Given the description of an element on the screen output the (x, y) to click on. 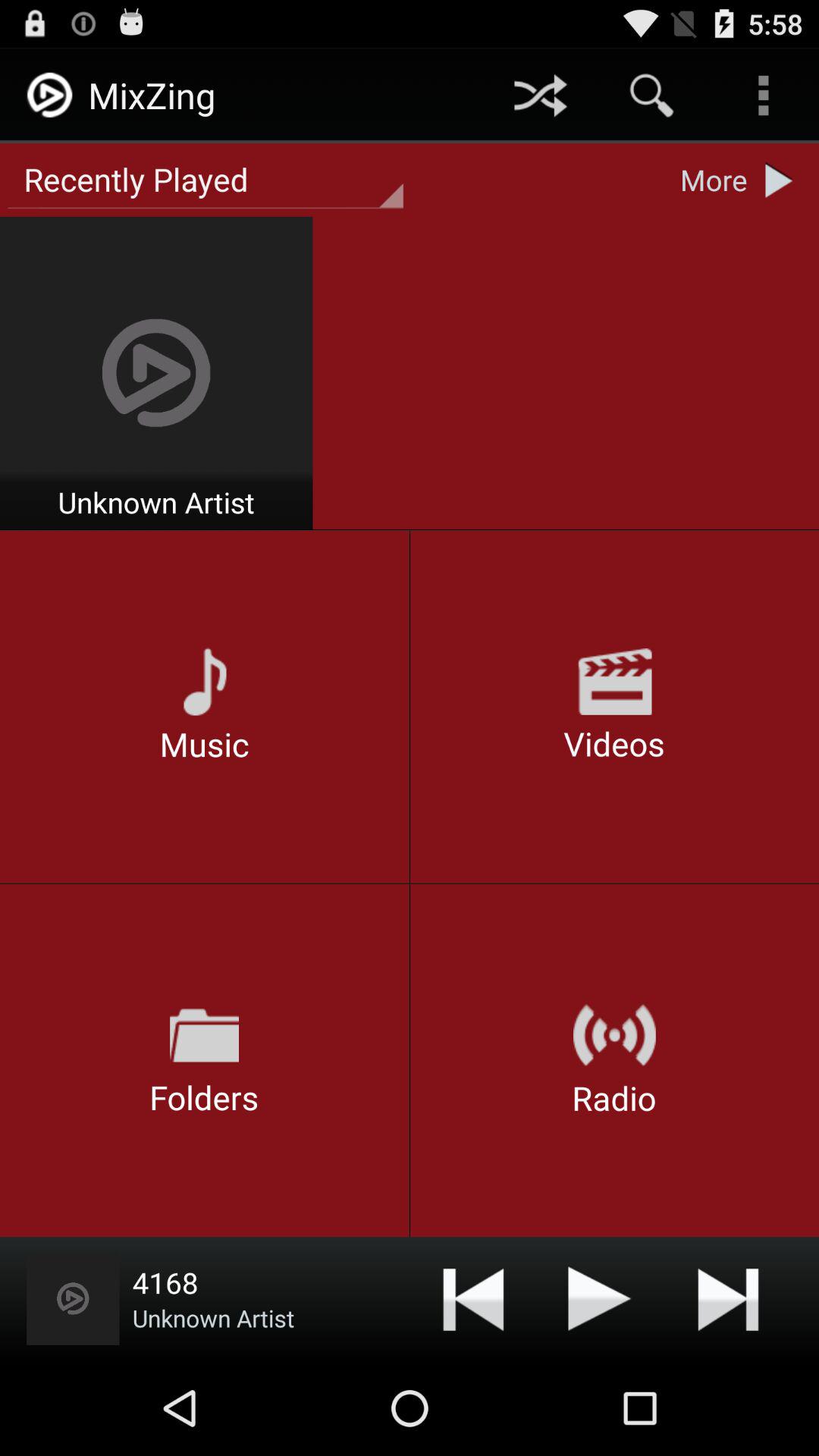
see more (783, 179)
